Given the description of an element on the screen output the (x, y) to click on. 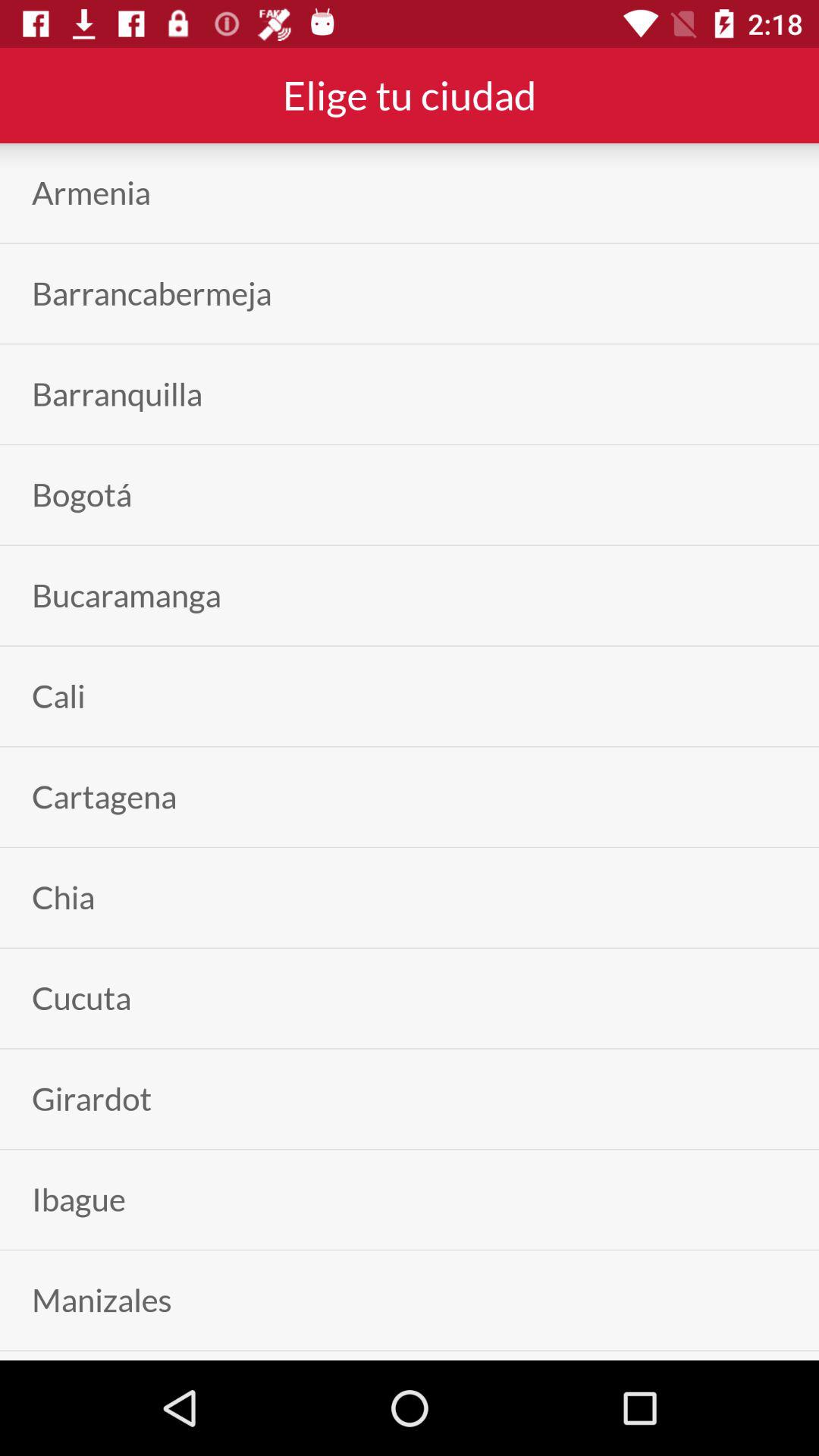
select icon below armenia (151, 293)
